Given the description of an element on the screen output the (x, y) to click on. 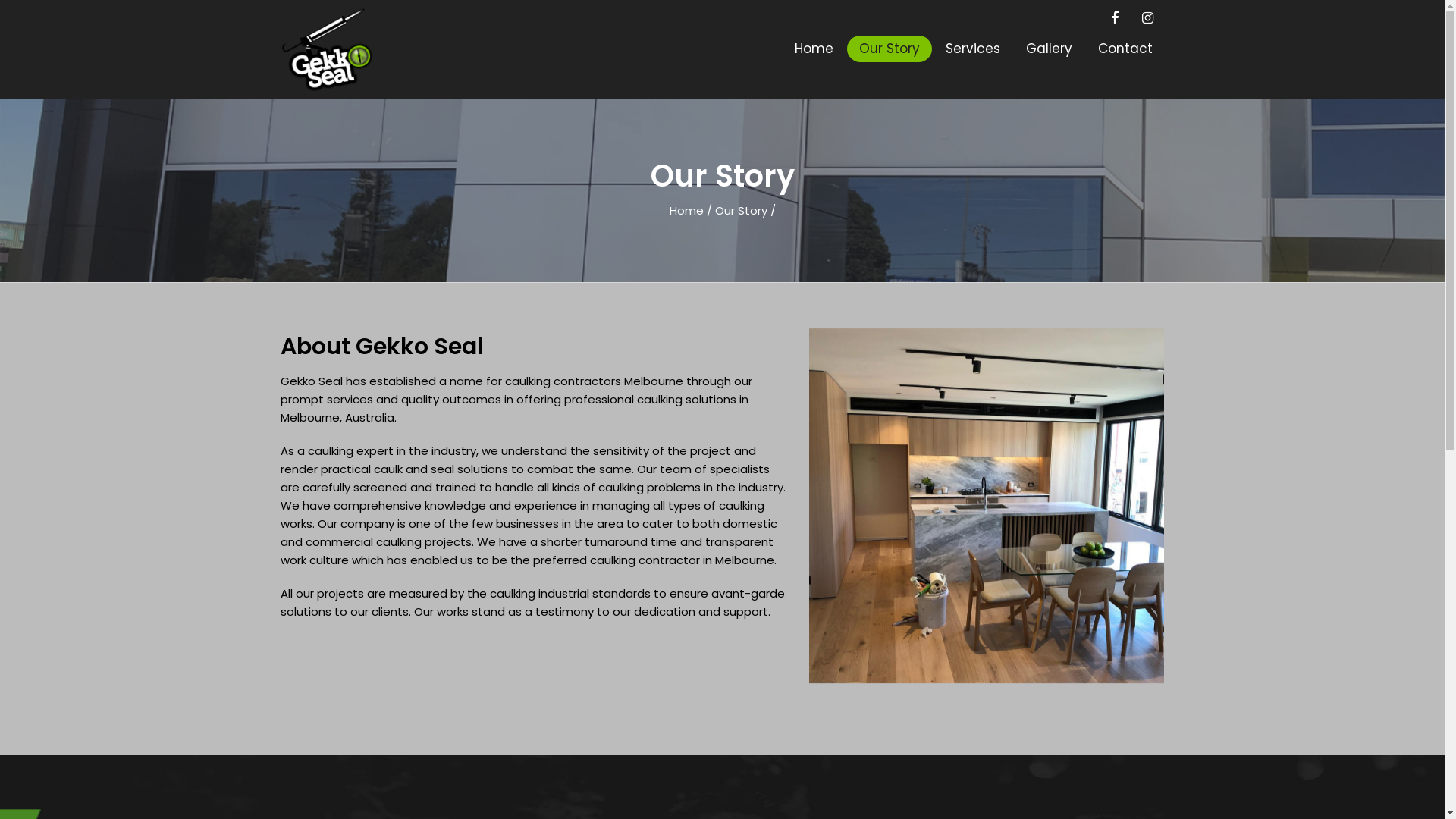
Home Element type: text (813, 48)
Instagram Element type: hover (1147, 18)
Gallery Element type: text (1048, 48)
Our Story Element type: text (888, 48)
Facebook Element type: hover (1113, 18)
Home Element type: text (685, 210)
Contact Element type: text (1124, 48)
Services Element type: text (971, 48)
